Given the description of an element on the screen output the (x, y) to click on. 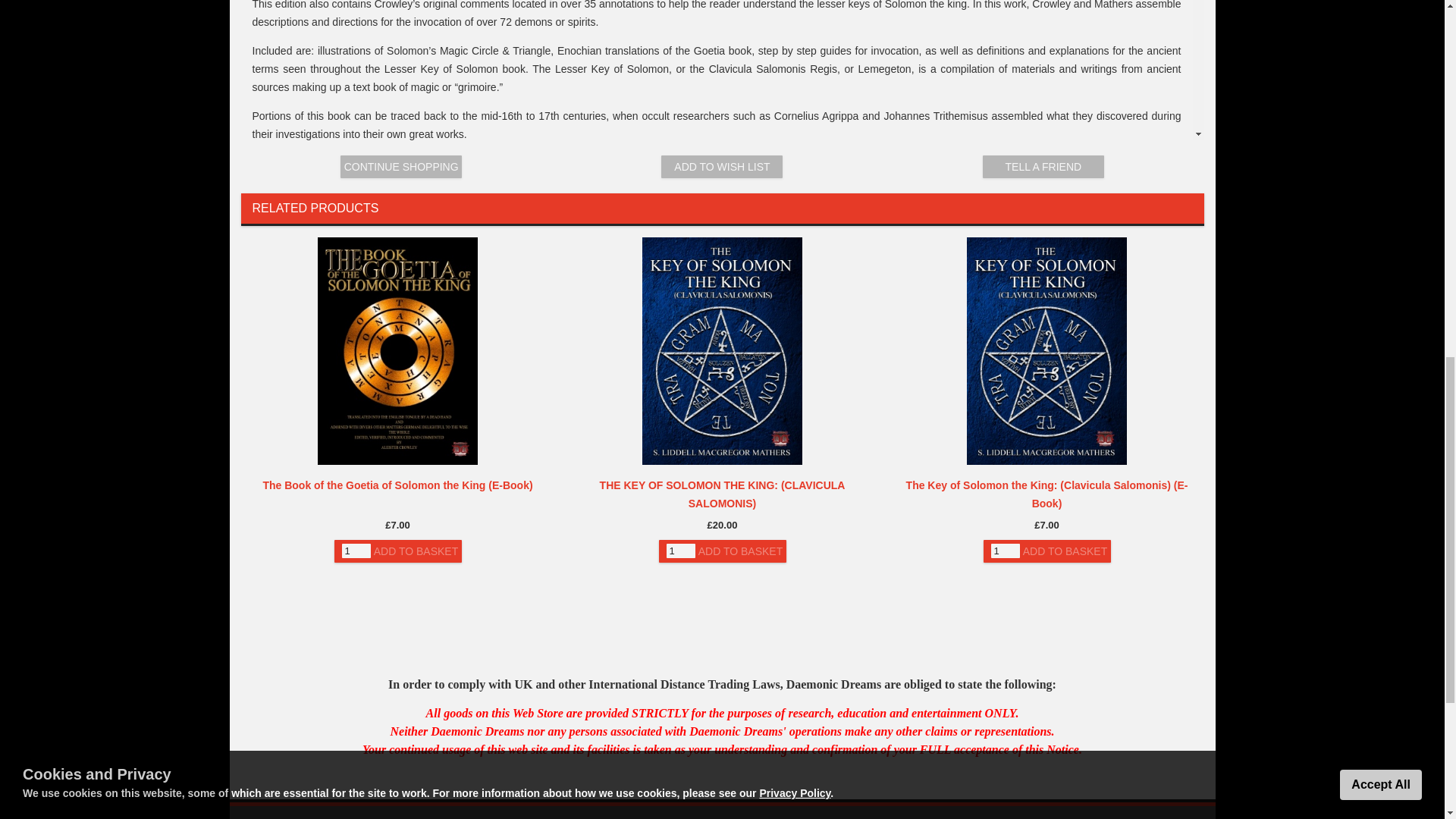
1 (679, 550)
CONTINUE SHOPPING (400, 166)
ADD TO WISH LIST (722, 166)
1 (354, 550)
ADD TO BASKET (1064, 550)
ADD TO BASKET (415, 550)
1 (1004, 550)
TELL A FRIEND (1042, 166)
ADD TO BASKET (740, 550)
